Given the description of an element on the screen output the (x, y) to click on. 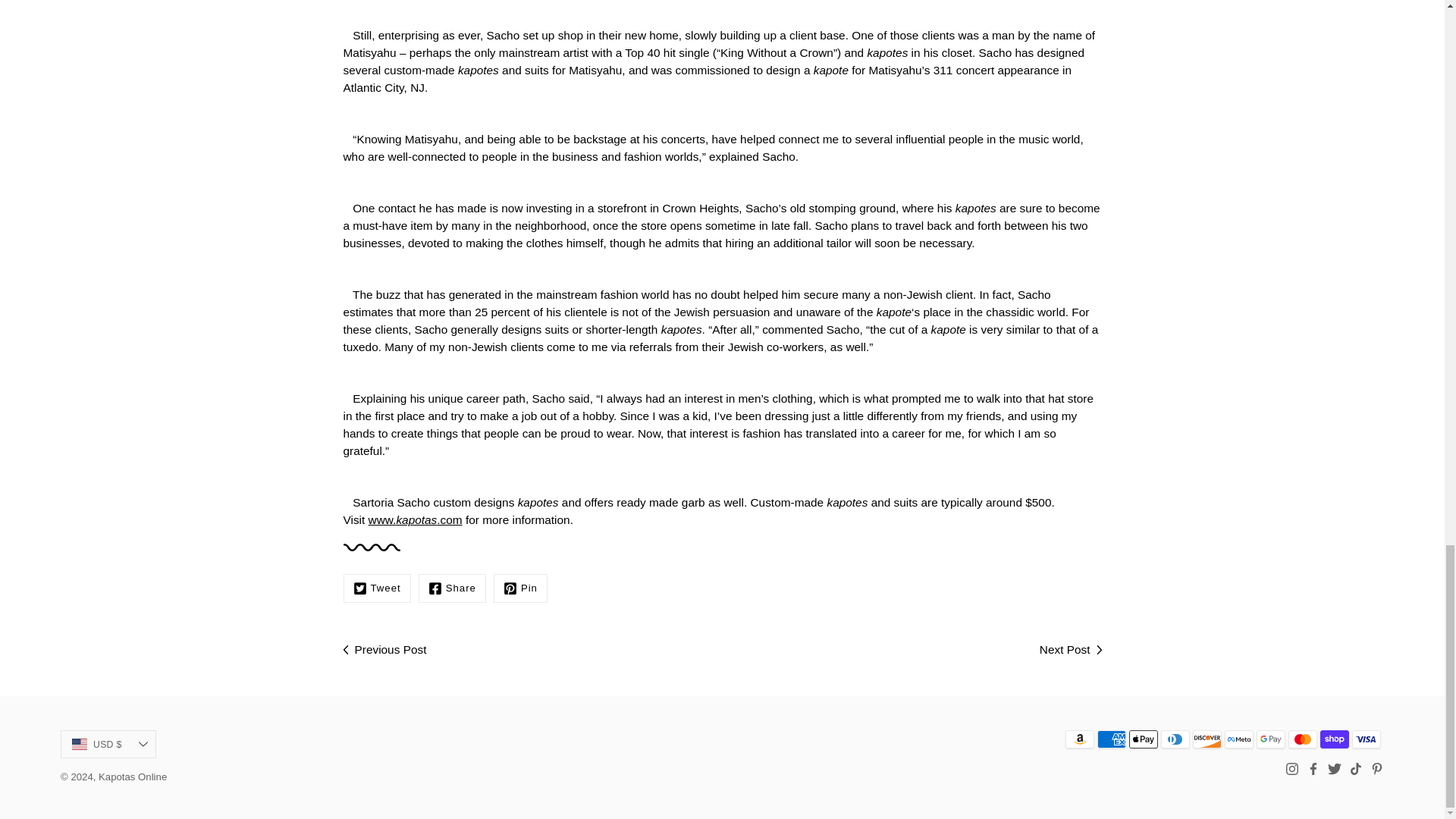
Discover (1206, 739)
Shop Pay (1334, 739)
Apple Pay (1143, 739)
Diners Club (1174, 739)
Facebook (452, 588)
American Express (1111, 739)
Google Pay (1270, 739)
Mastercard (1302, 739)
Amazon (1079, 739)
Pinterest (520, 588)
